Given the description of an element on the screen output the (x, y) to click on. 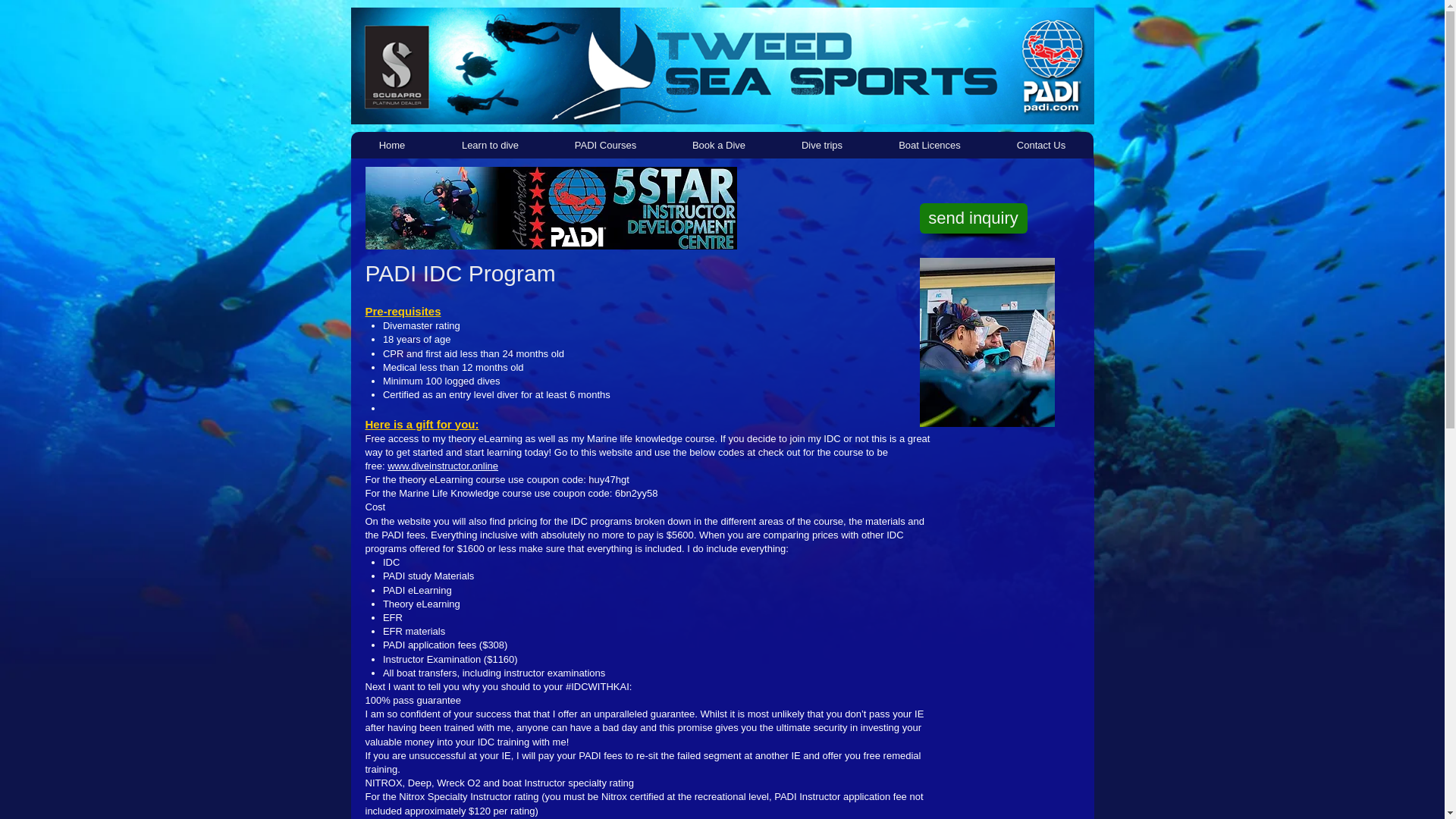
Boat Licences (929, 144)
Contact Us (1040, 144)
Learn to dive (490, 144)
www.diveinstructor.online (442, 465)
Home (391, 144)
Dive trips (821, 144)
PADI Courses (604, 144)
Book a Dive (718, 144)
send inquiry (972, 218)
